Given the description of an element on the screen output the (x, y) to click on. 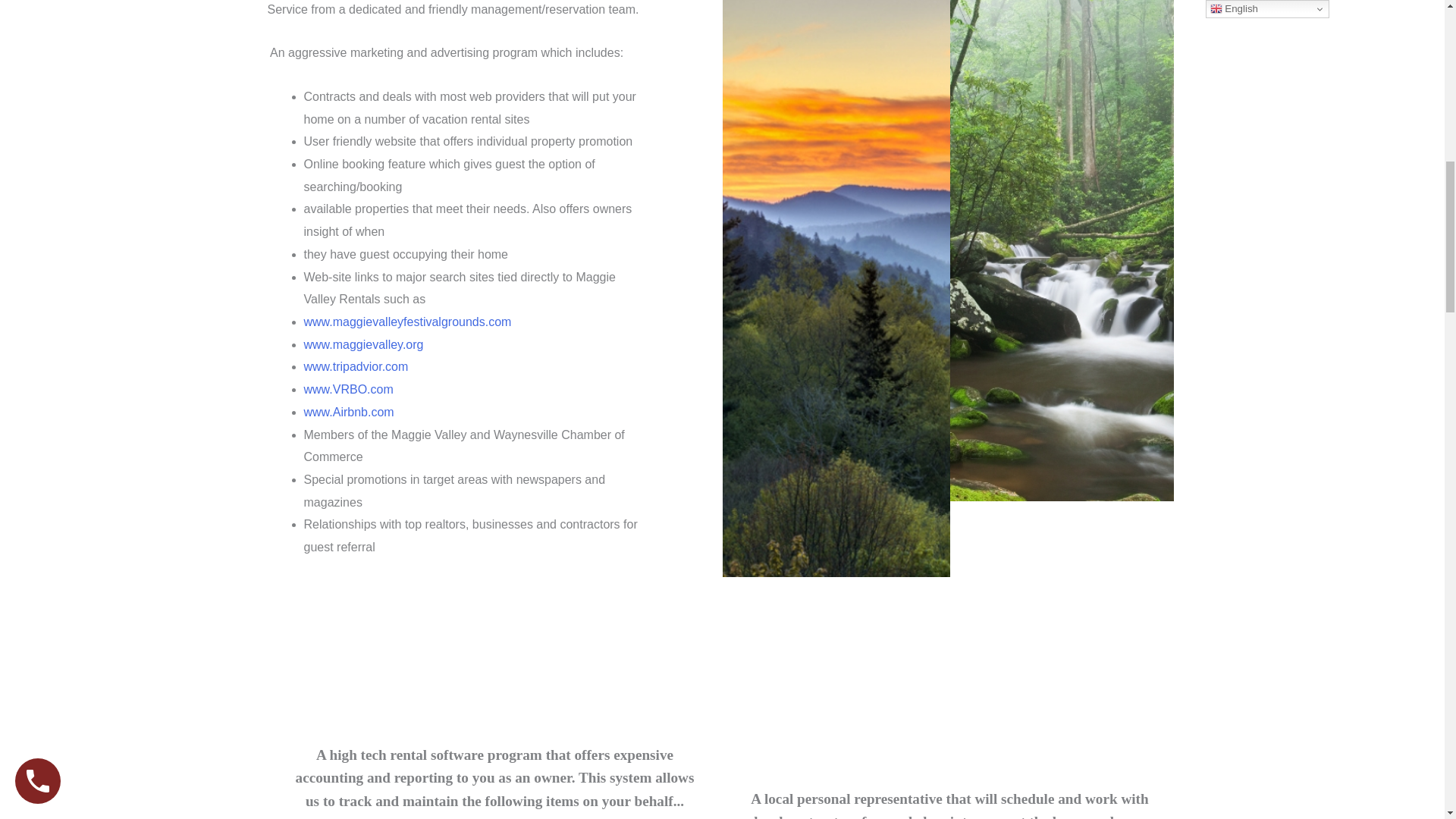
www.Airbnb.com (347, 411)
www.maggievalley.org (362, 344)
www.maggievalleyfestivalgrounds.com (406, 321)
www.VRBO.com (347, 389)
www.tripadvior.com  (356, 366)
